Given the description of an element on the screen output the (x, y) to click on. 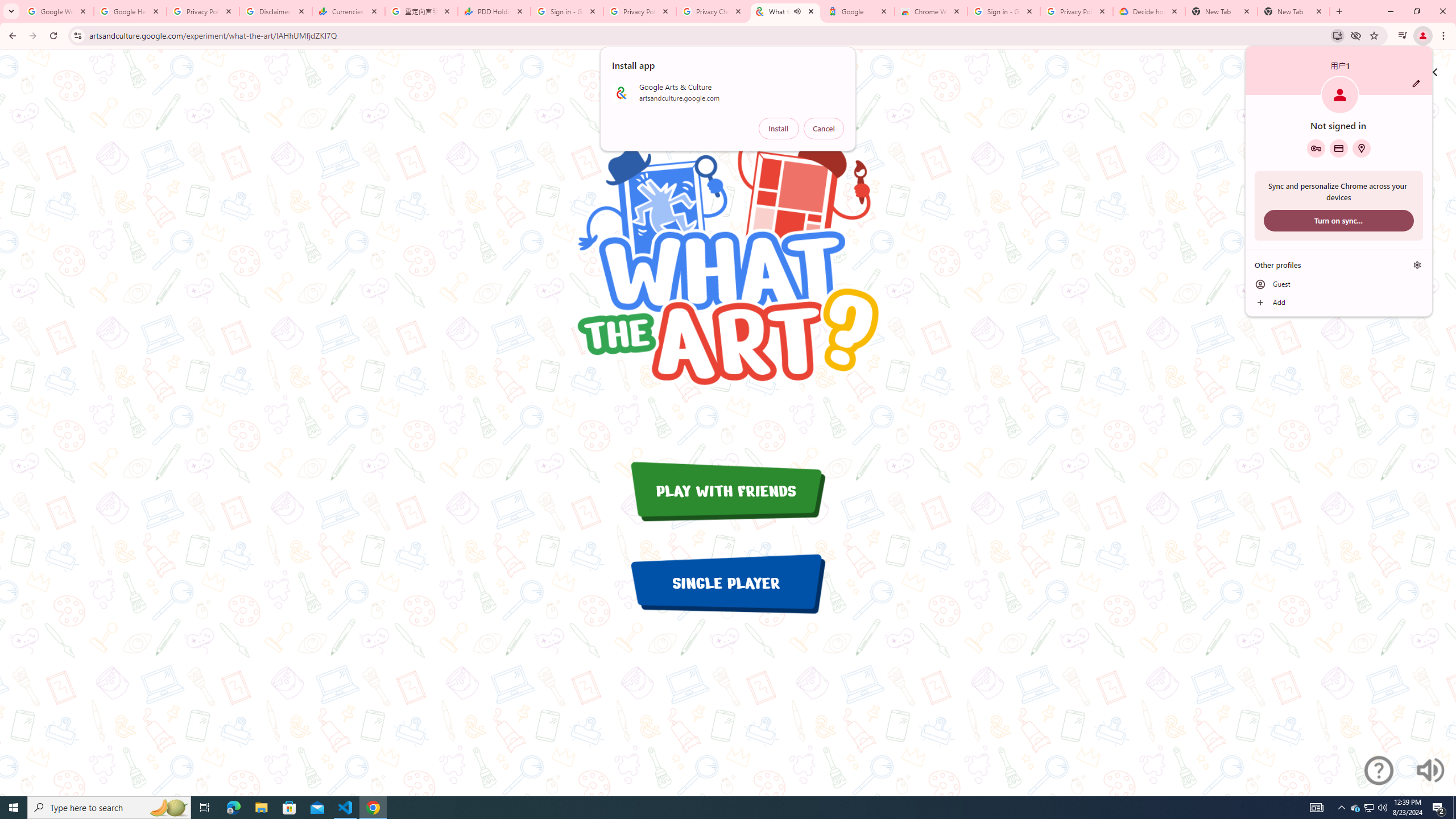
Microsoft Store (289, 807)
New Tab (1355, 807)
Addresses and more (1293, 11)
Manage profiles (1361, 148)
Chrome Web Store - Color themes by Chrome (1417, 265)
Currencies - Google Finance (930, 11)
Action Center, 2 new notifications (348, 11)
Google Chrome - 1 running window (1439, 807)
Add (373, 807)
Google (1338, 302)
Mute tab (857, 11)
